Given the description of an element on the screen output the (x, y) to click on. 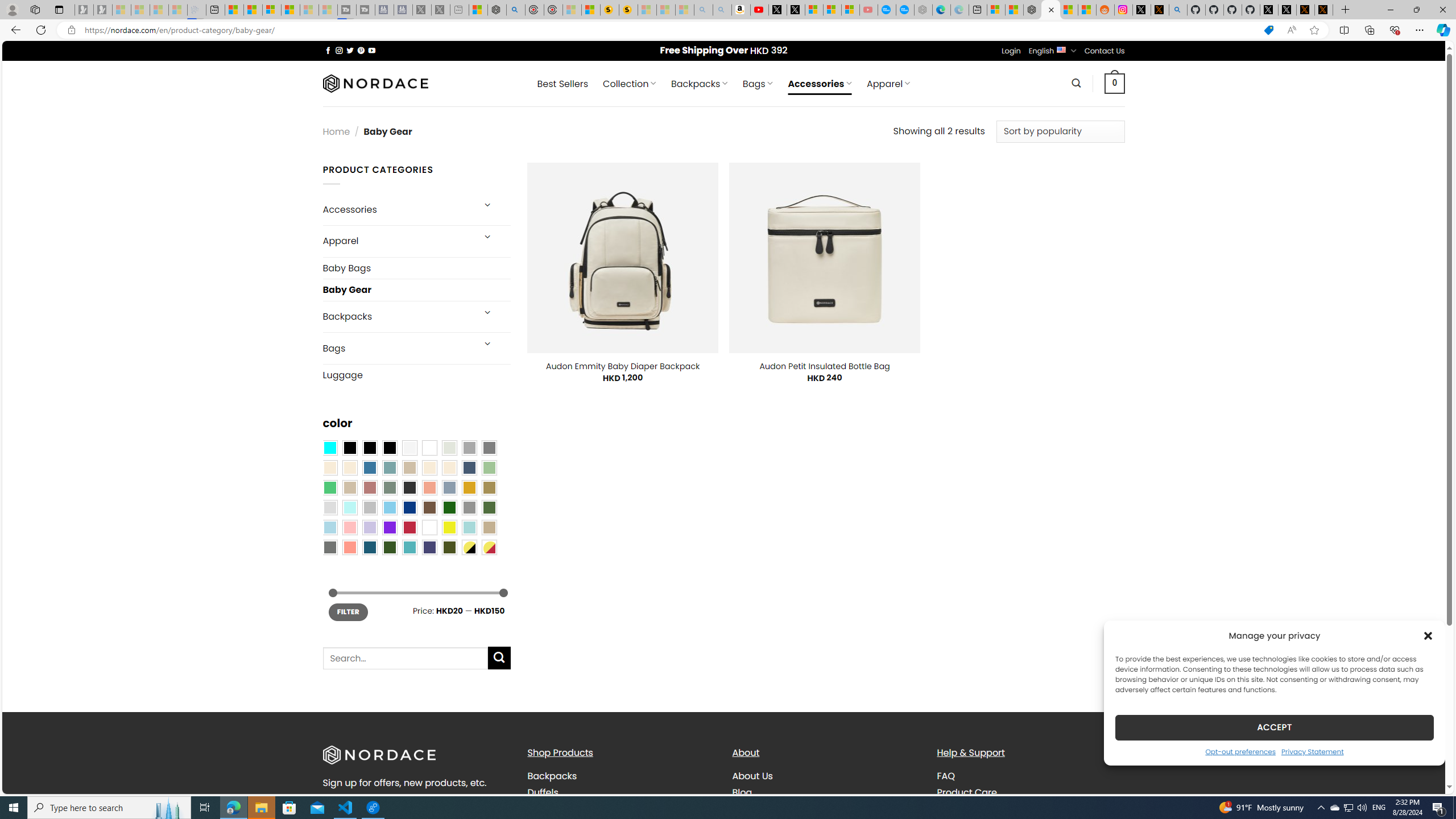
Submit (499, 658)
Product Care (1030, 792)
FAQ (1030, 776)
Light Green (488, 467)
Light Purple (369, 527)
Nordace - Best Sellers (1032, 9)
Login (1010, 50)
Purple Navy (429, 547)
